Given the description of an element on the screen output the (x, y) to click on. 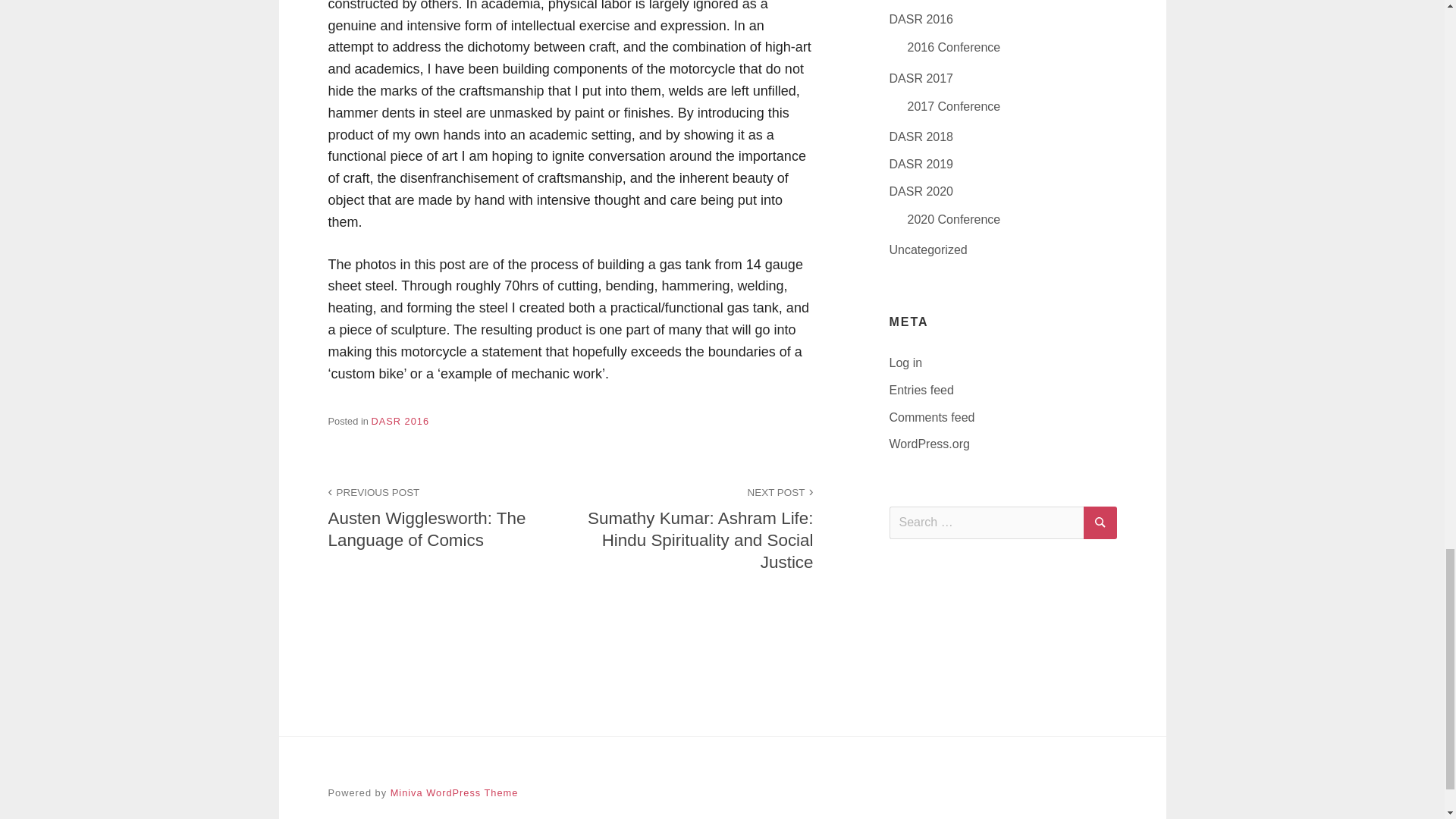
DASR 2016 (448, 517)
